Given the description of an element on the screen output the (x, y) to click on. 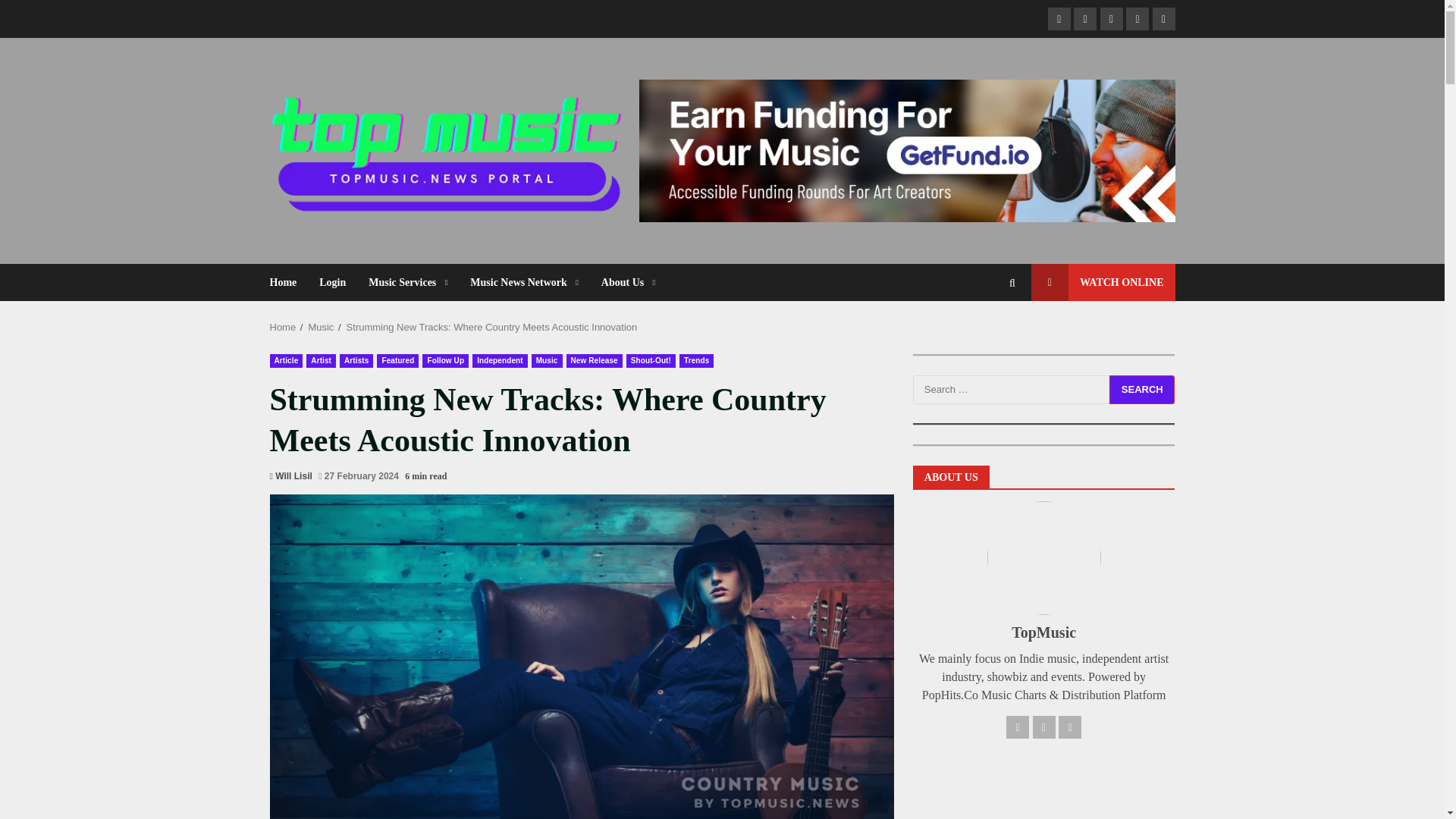
Search (1141, 389)
Music Services (407, 282)
About Us (622, 282)
Music (320, 326)
Search (984, 334)
WATCH ONLINE (1102, 282)
Search (1141, 389)
Article (285, 360)
Home (288, 282)
Login (331, 282)
Music News Network (523, 282)
Home (283, 326)
